Given the description of an element on the screen output the (x, y) to click on. 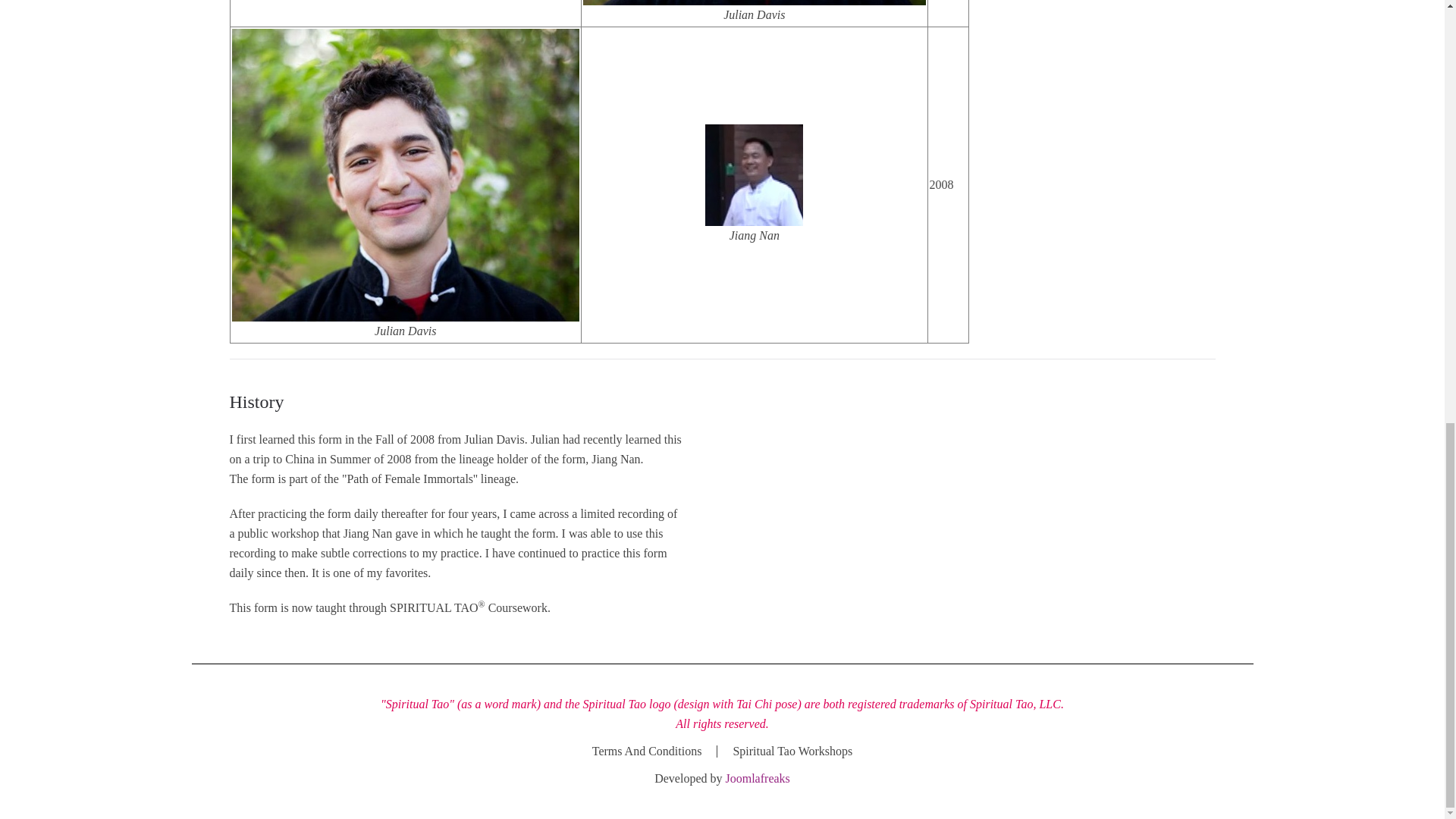
Joomlafreaks (757, 778)
Spiritual Tao Workshops (791, 751)
Terms And Conditions (646, 751)
